Given the description of an element on the screen output the (x, y) to click on. 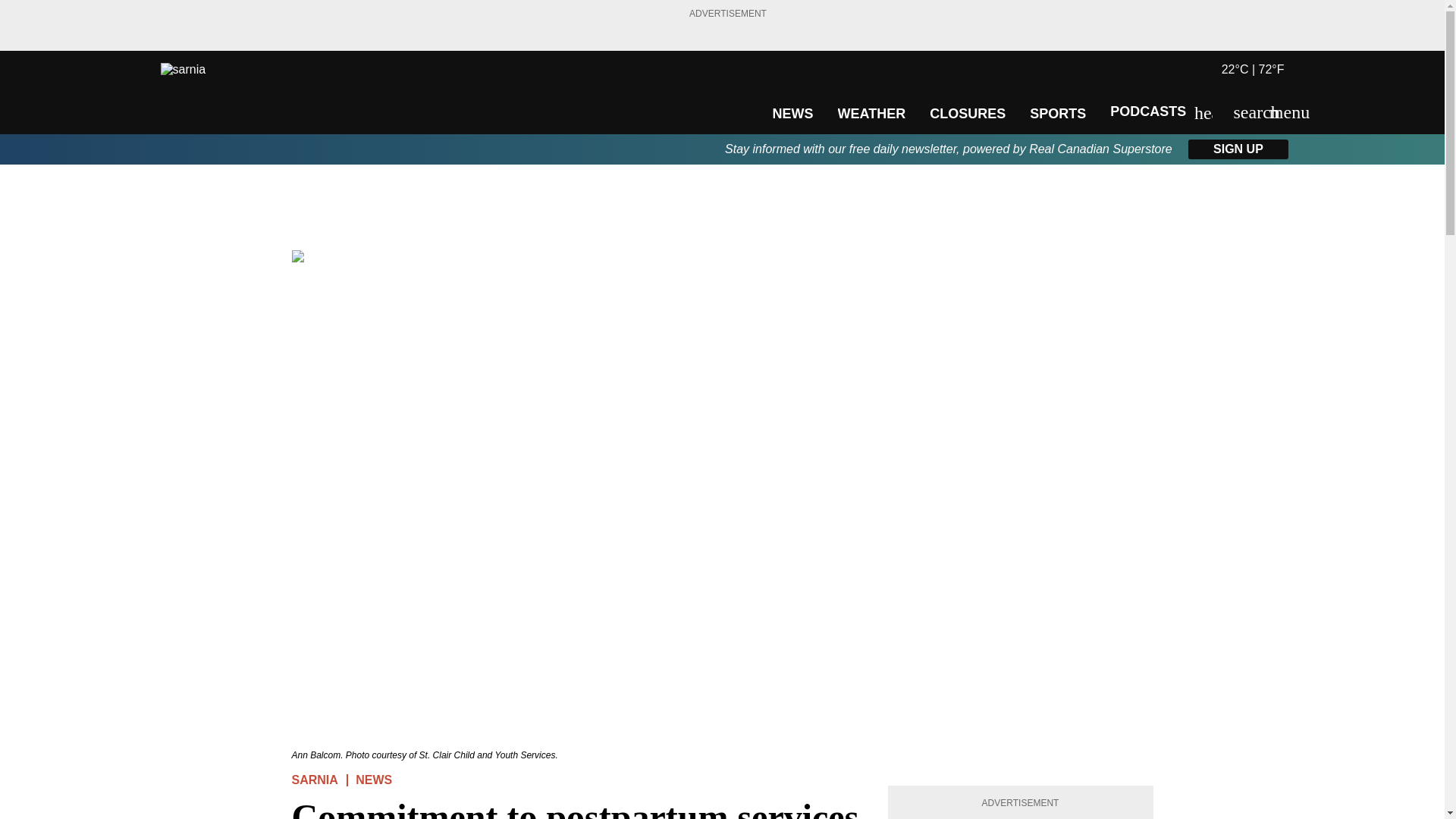
NEWS (373, 779)
search (1242, 112)
CLOSURES (968, 114)
SARNIA (314, 779)
WEATHER (871, 114)
menu (1278, 112)
SPORTS (1057, 114)
SIGN UP (1238, 148)
NEWS (791, 114)
